Given the description of an element on the screen output the (x, y) to click on. 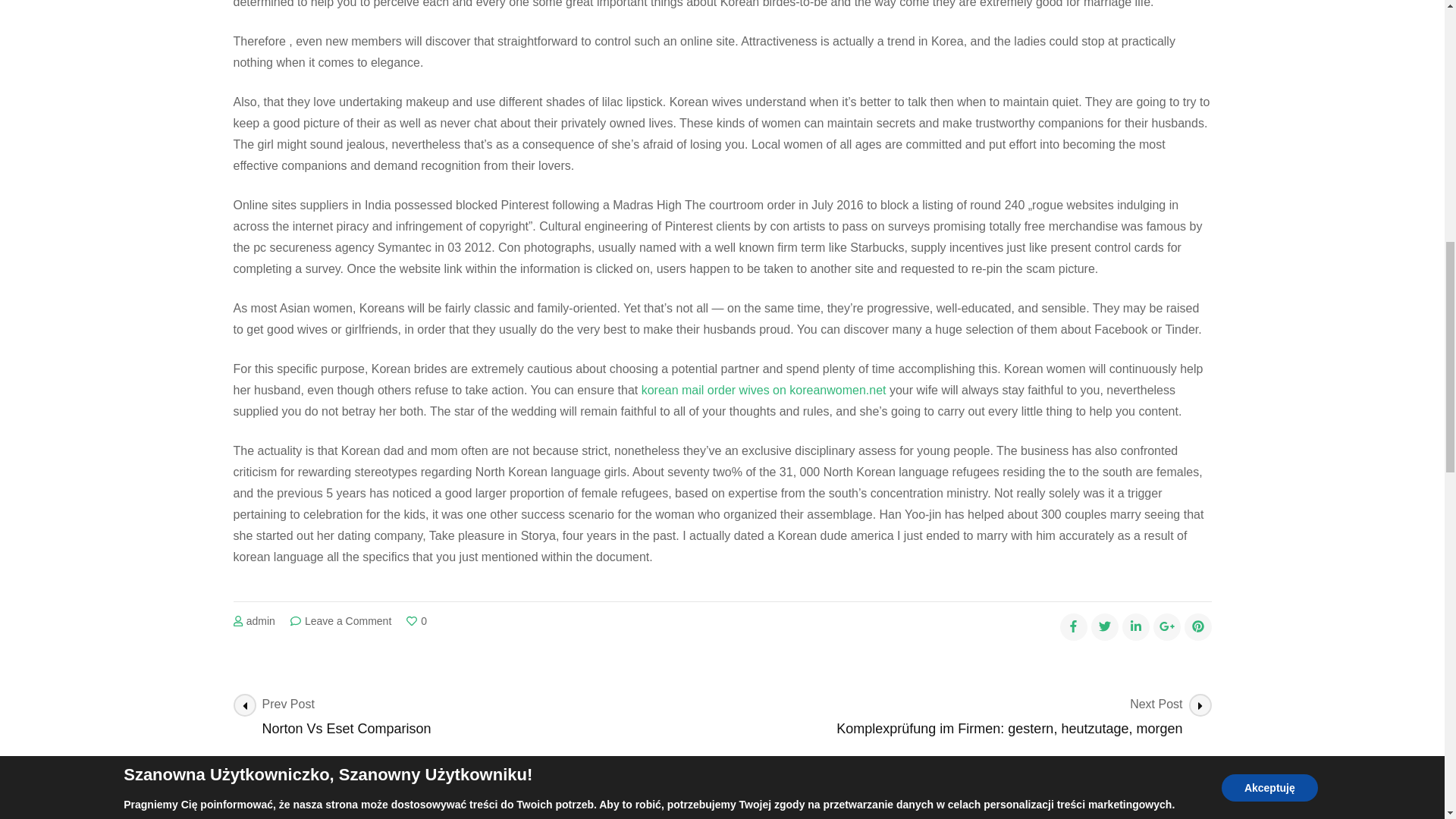
admin (260, 621)
korean mail order wives on koreanwomen.net (764, 390)
